Given the description of an element on the screen output the (x, y) to click on. 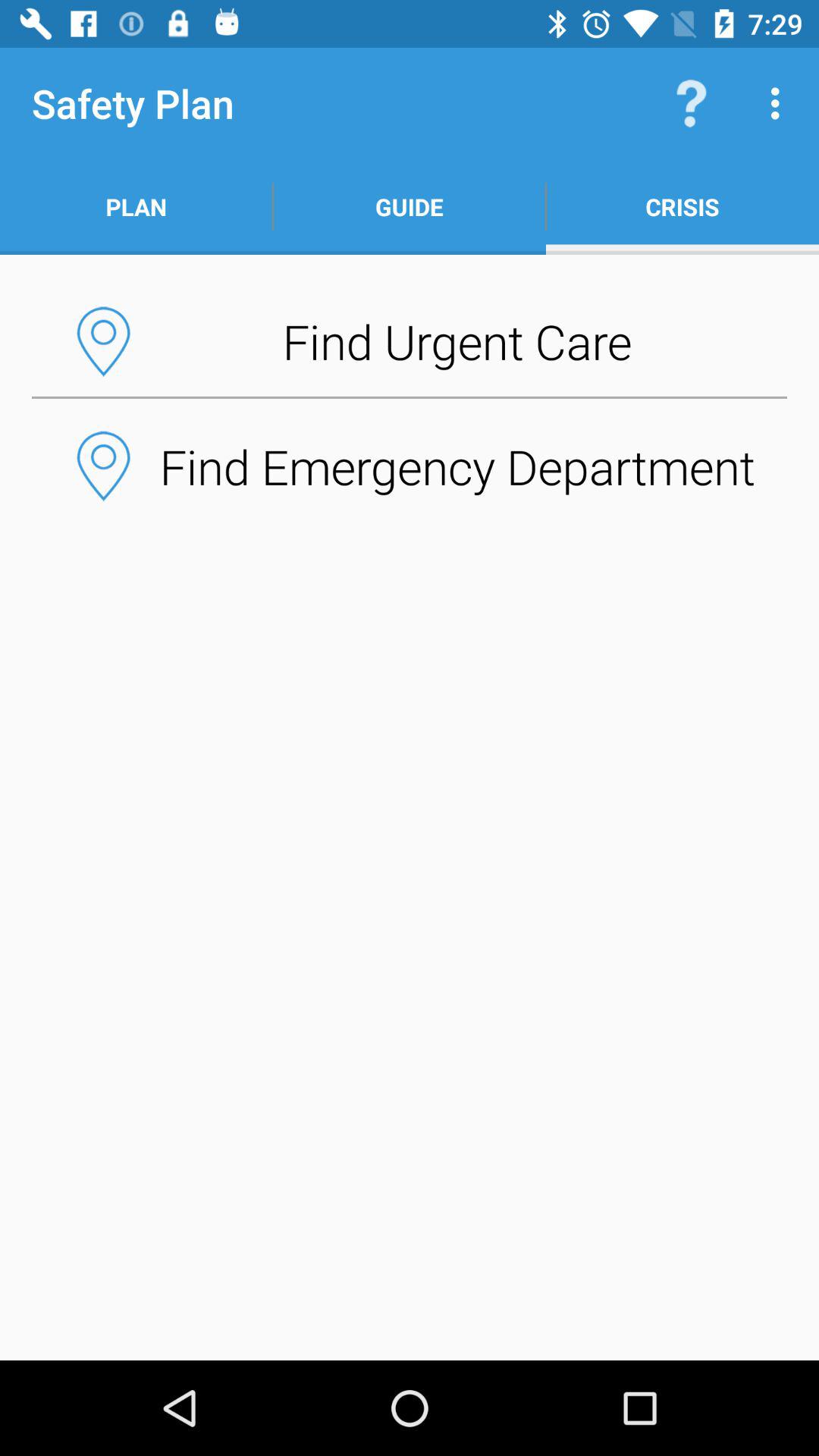
click the icon to the right of the guide item (682, 206)
